Given the description of an element on the screen output the (x, y) to click on. 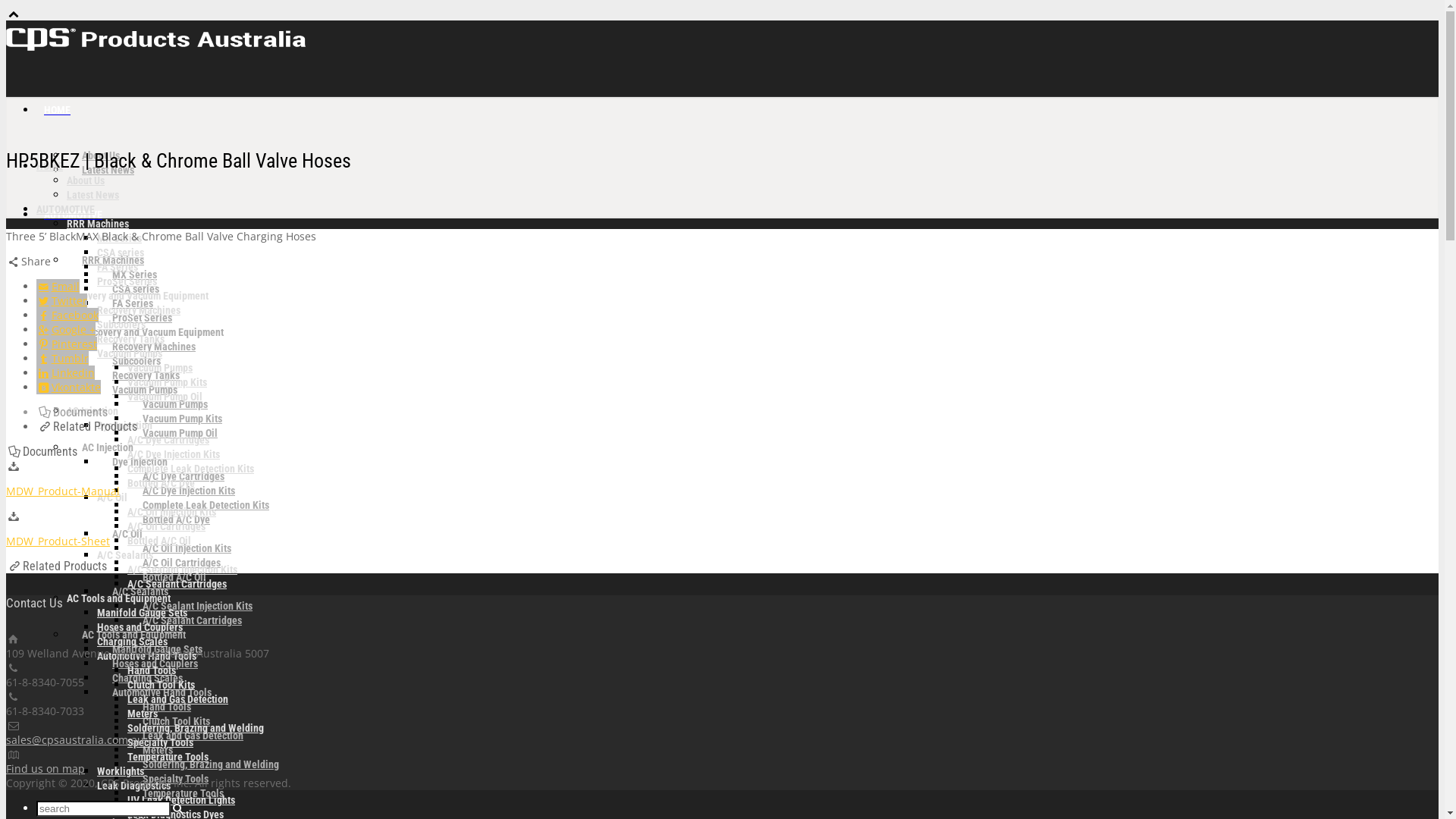
Bottled A/C Oil Element type: text (174, 576)
Latest News Element type: text (107, 169)
About Us Element type: text (100, 155)
MX Series Element type: text (134, 274)
CSA series Element type: text (120, 252)
About Us Element type: text (85, 180)
A/C Oil Injection Kits Element type: text (171, 511)
A/C Oil Element type: text (112, 497)
Vacuum Pumps Element type: text (174, 403)
Facebook Element type: text (67, 314)
Vacuum Pump Oil Element type: text (164, 396)
Recovery Machines Element type: text (138, 310)
A/C Sealant Injection Kits Element type: text (197, 605)
AC Injection Element type: text (92, 410)
Recovery Machines Element type: text (153, 346)
RRR Machines Element type: text (97, 223)
Leak and Gas Detection Element type: text (177, 699)
Automotive Hand Tools Element type: text (161, 691)
Vkontakte Element type: text (68, 386)
HOME Element type: text (49, 166)
Leak Diagnostics Element type: text (133, 785)
Worklights Element type: text (120, 771)
A/C Dye Injection Kits Element type: text (188, 490)
Recovery and Vacuum Equipment Element type: text (152, 331)
Linkedin Element type: text (65, 372)
Automotive Hand Tools Element type: text (146, 655)
Vacuum Pump Oil Element type: text (179, 432)
CPS Products Australia Element type: hover (157, 46)
HOME Element type: text (57, 109)
A/C Dye Cartridges Element type: text (183, 475)
A/C Sealants Element type: text (140, 591)
Recovery and Vacuum Equipment Element type: text (137, 295)
Bottled A/C Oil Element type: text (159, 540)
AC Injection Element type: text (107, 446)
Temperature Tools Element type: text (167, 756)
Hoses and Couplers Element type: text (155, 663)
RRR Machines Element type: text (112, 259)
A/C Sealant Cartridges Element type: text (192, 619)
Bottled A/C Dye Element type: text (176, 519)
Bottled A/C Dye Element type: text (160, 482)
Meters Element type: text (157, 749)
ProSet Series Element type: text (142, 317)
A/C Dye Injection Kits Element type: text (173, 454)
Complete Leak Detection Kits Element type: text (205, 504)
A/C Oil Element type: text (127, 533)
Manifold Gauge Sets Element type: text (157, 648)
Dye Injection Element type: text (139, 461)
Vacuum Pump Kits Element type: text (182, 418)
Charging Scales Element type: text (147, 677)
Hoses and Couplers Element type: text (139, 627)
A/C Sealants Element type: text (125, 555)
Clutch Tool Kits Element type: text (176, 720)
AC Tools and Equipment Element type: text (133, 634)
Twitter Element type: text (61, 300)
Vacuum Pumps Element type: text (129, 353)
Specialty Tools Element type: text (175, 778)
MX Series Element type: text (119, 238)
AUTOMOTIVE Element type: text (72, 214)
Pinterest Element type: text (66, 343)
Leak and Gas Detection Element type: text (192, 735)
Hand Tools Element type: text (166, 706)
A/C Sealant Injection Kits Element type: text (182, 569)
A/C Oil Cartridges Element type: text (166, 526)
UV Leak Detection Lights Element type: text (181, 799)
Soldering, Brazing and Welding Element type: text (210, 763)
Meters Element type: text (142, 713)
Charging Scales Element type: text (132, 641)
Specialty Tools Element type: text (160, 742)
A/C Dye Cartridges Element type: text (168, 439)
A/C Sealant Cartridges Element type: text (176, 583)
CSA series Element type: text (135, 288)
Manifold Gauge Sets Element type: text (142, 612)
Recovery Tanks Element type: text (145, 374)
ProSet Series Element type: text (126, 281)
Dye Injection Element type: text (124, 425)
sales@cpsaustralia.com.au Element type: text (75, 739)
A/C Oil Injection Kits Element type: text (186, 547)
AUTOMOTIVE Element type: text (65, 209)
Vacuum Pumps Element type: text (159, 367)
Google + Element type: text (65, 329)
FA Series Element type: text (132, 302)
Complete Leak Detection Kits Element type: text (190, 468)
Tumblr Element type: text (62, 358)
Vacuum Pumps Element type: text (144, 389)
Vacuum Pump Kits Element type: text (167, 382)
Subcoolers Element type: text (121, 324)
A/C Oil Cartridges Element type: text (181, 562)
Clutch Tool Kits Element type: text (160, 684)
Recovery Tanks Element type: text (130, 338)
Soldering, Brazing and Welding Element type: text (195, 727)
FA Series Element type: text (117, 266)
Email Element type: text (57, 286)
Find us on map Element type: text (45, 768)
Subcoolers Element type: text (136, 360)
Latest News Element type: text (92, 194)
MDW_Product-Sheet Element type: text (57, 540)
AC Tools and Equipment Element type: text (118, 598)
MDW_Product-Manual Element type: text (62, 490)
Temperature Tools Element type: text (182, 792)
Hand Tools Element type: text (151, 670)
